Given the description of an element on the screen output the (x, y) to click on. 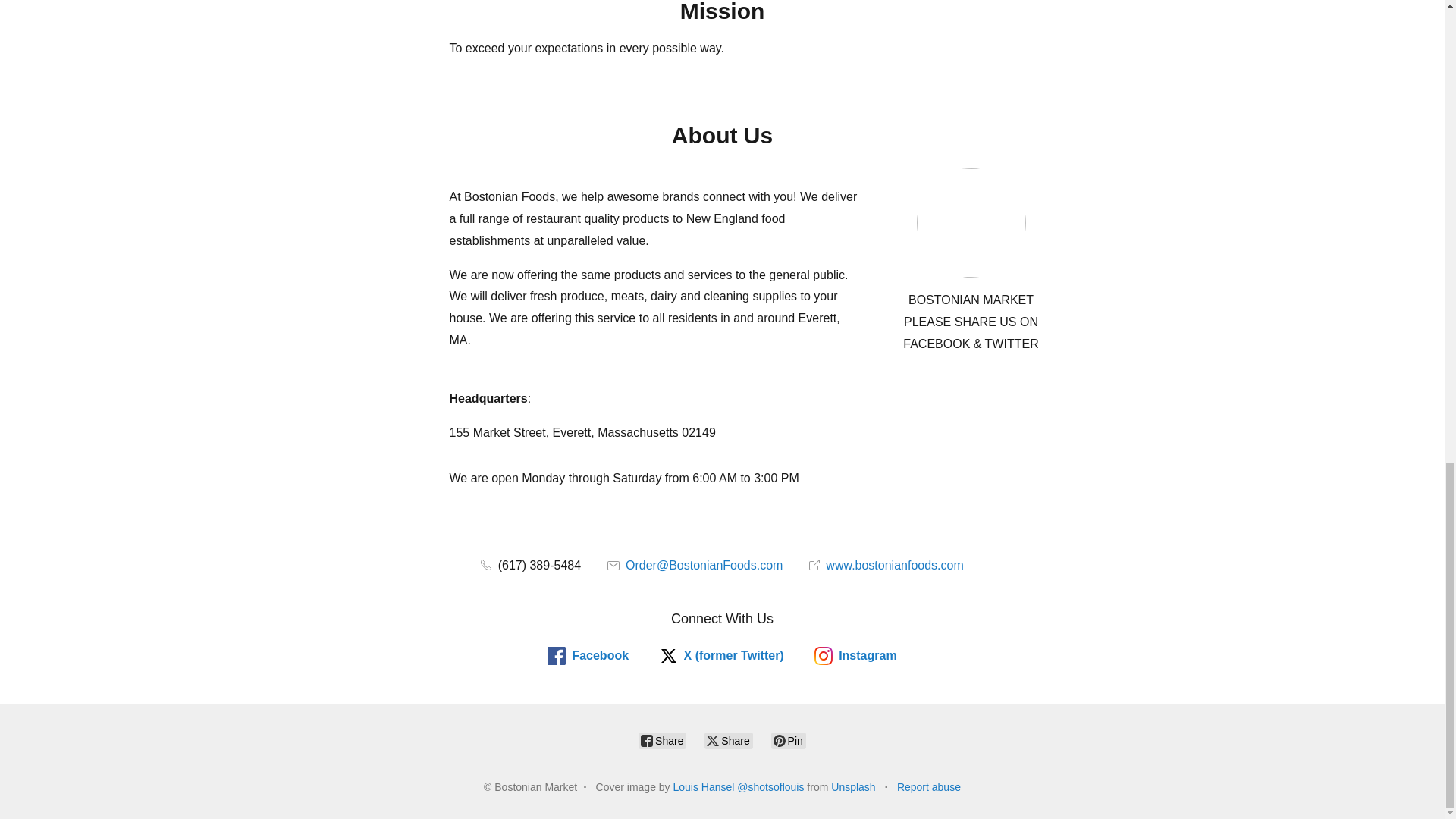
www.bostonianfoods.com (886, 564)
Share (662, 740)
Unsplash (853, 787)
Pin (788, 740)
Share (728, 740)
Instagram (854, 656)
Facebook (587, 656)
Report abuse (928, 787)
